Given the description of an element on the screen output the (x, y) to click on. 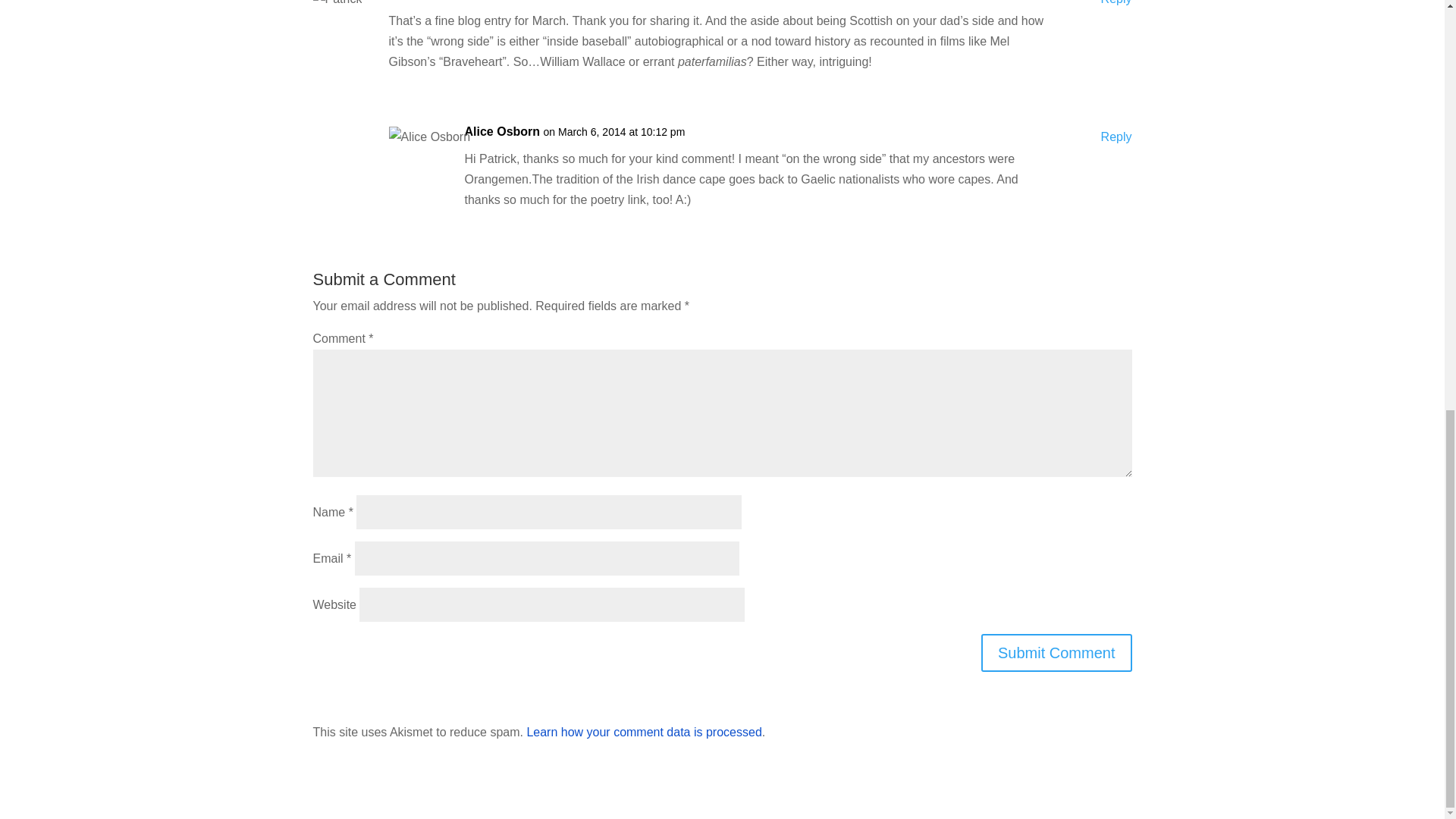
Learn how your comment data is processed (643, 731)
Submit Comment (1056, 652)
Reply (1116, 4)
Alice Osborn (502, 130)
Reply (1116, 136)
Submit Comment (1056, 652)
